Given the description of an element on the screen output the (x, y) to click on. 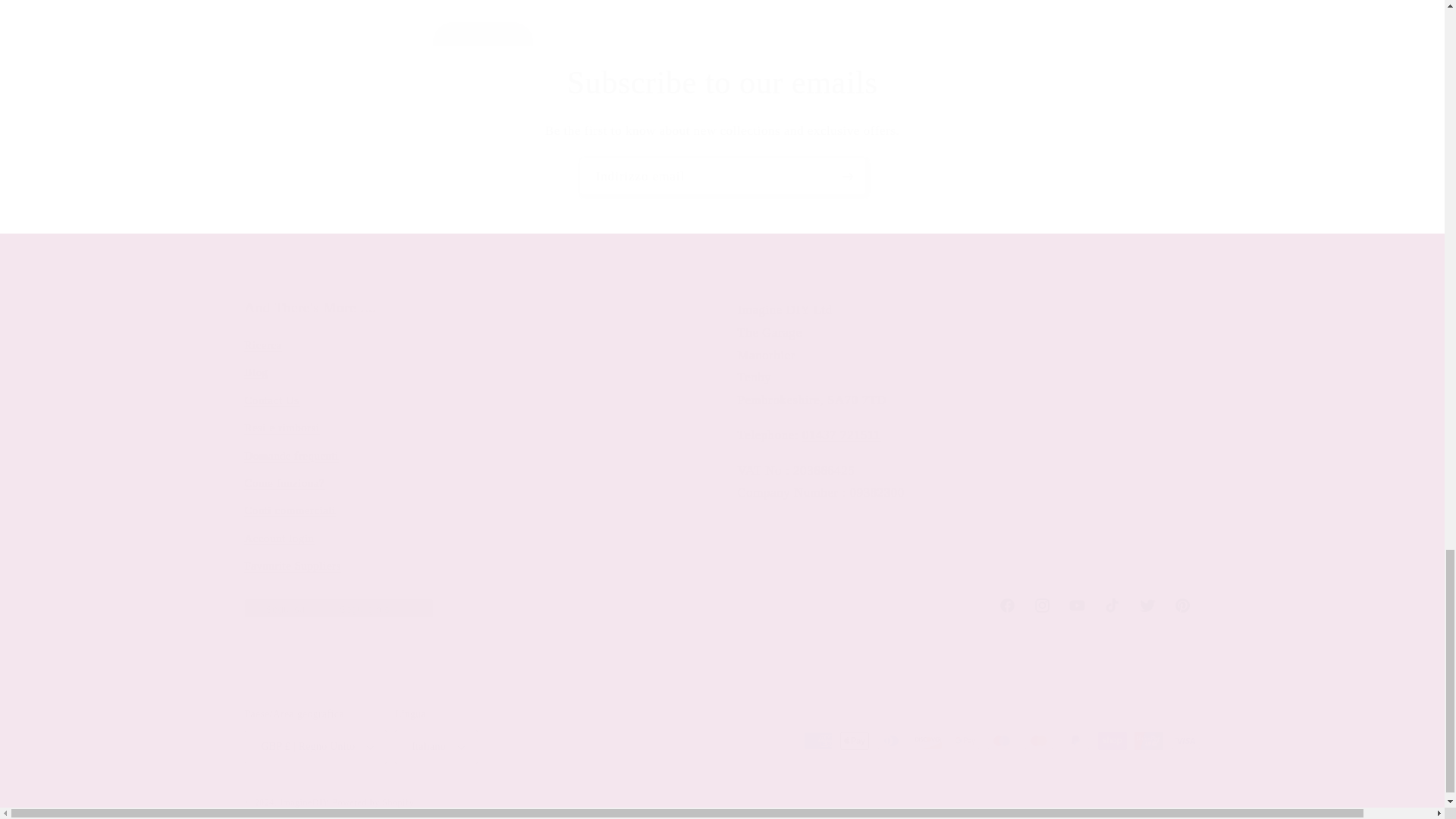
Subscribe to our emails (722, 83)
tel:01437 721511 (841, 434)
Indirizzo email (721, 605)
